Given the description of an element on the screen output the (x, y) to click on. 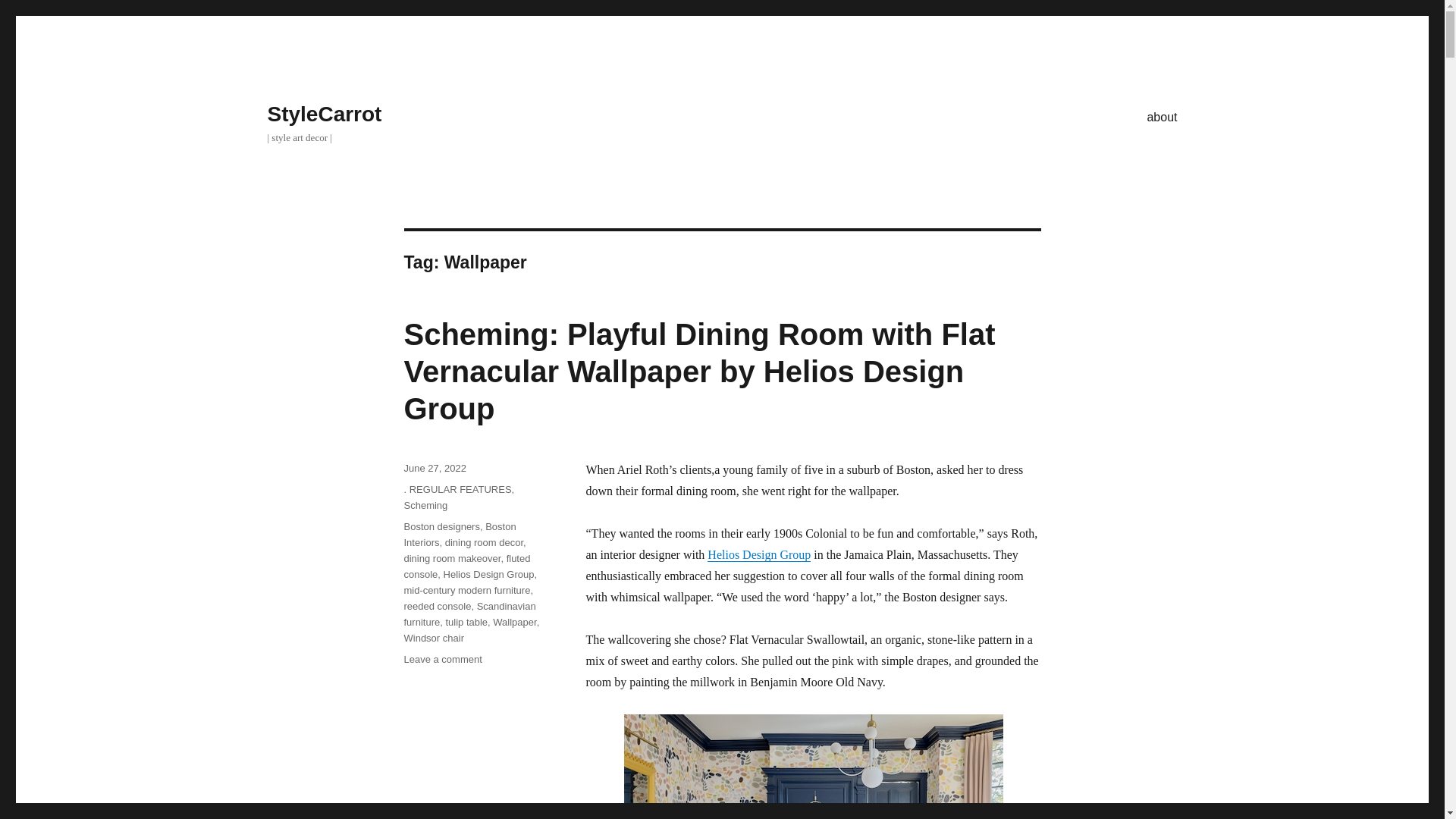
Scandinavian furniture (469, 614)
StyleCarrot (323, 114)
. REGULAR FEATURES (457, 489)
Helios Design Group (489, 573)
Wallpaper (514, 622)
about (1161, 116)
Scheming (424, 505)
reeded console (436, 605)
mid-century modern furniture (466, 590)
tulip table (466, 622)
Boston designers (441, 526)
fluted console (466, 565)
Helios Design Group (758, 554)
dining room makeover (451, 558)
